Given the description of an element on the screen output the (x, y) to click on. 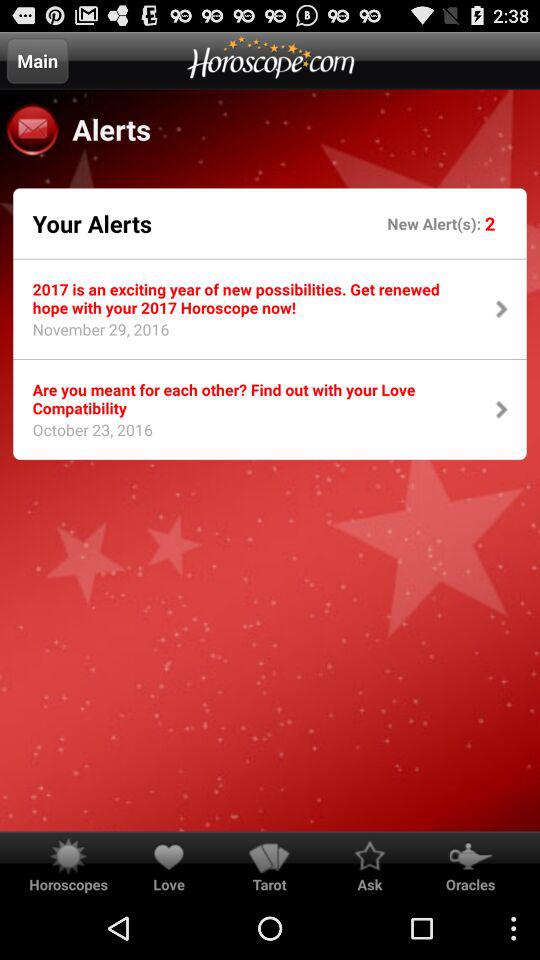
choose the app next to 2 icon (435, 222)
